Given the description of an element on the screen output the (x, y) to click on. 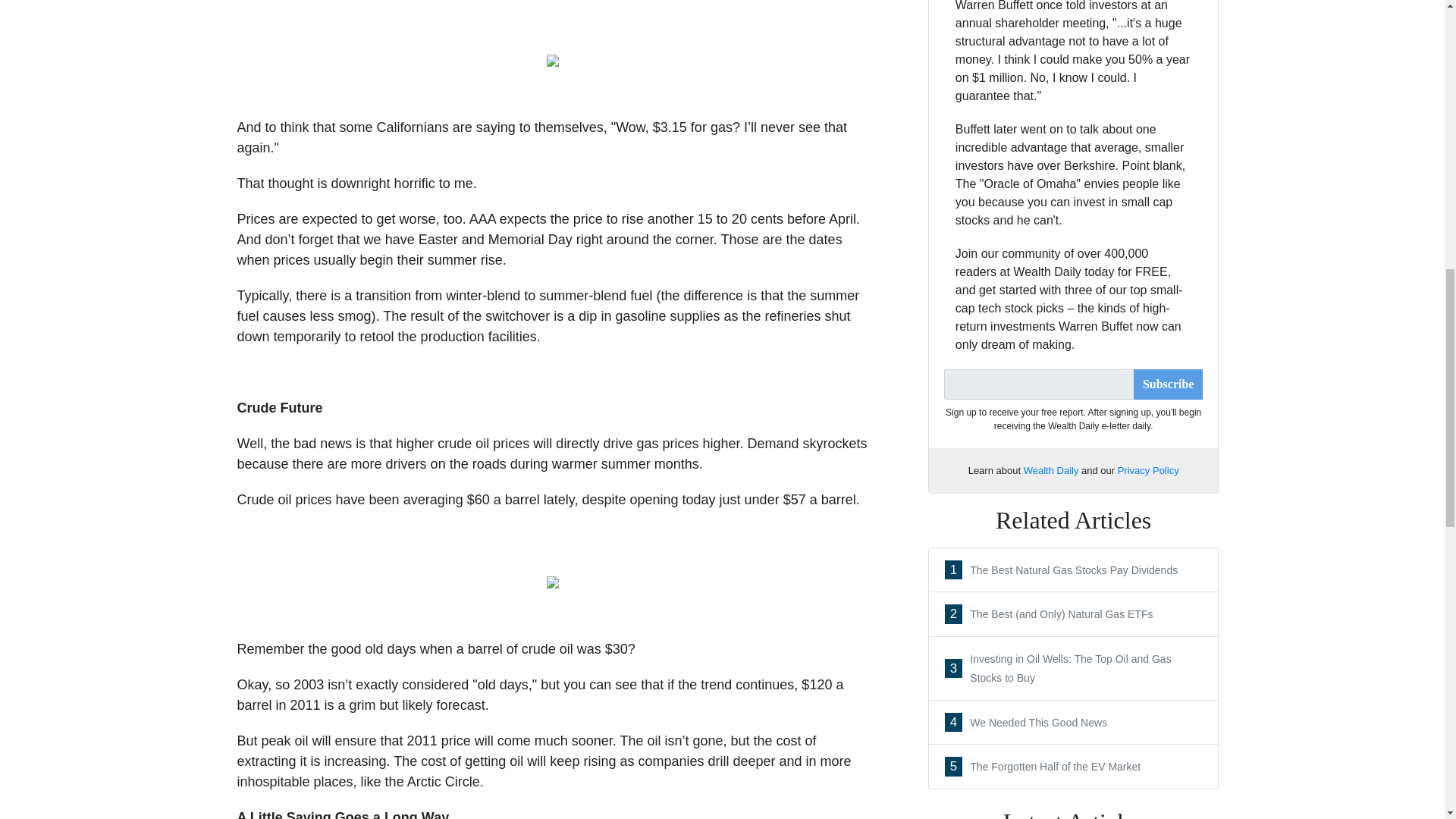
Subscribe (1169, 384)
Privacy Policy (1074, 723)
Wealth Daily (1074, 569)
